Given the description of an element on the screen output the (x, y) to click on. 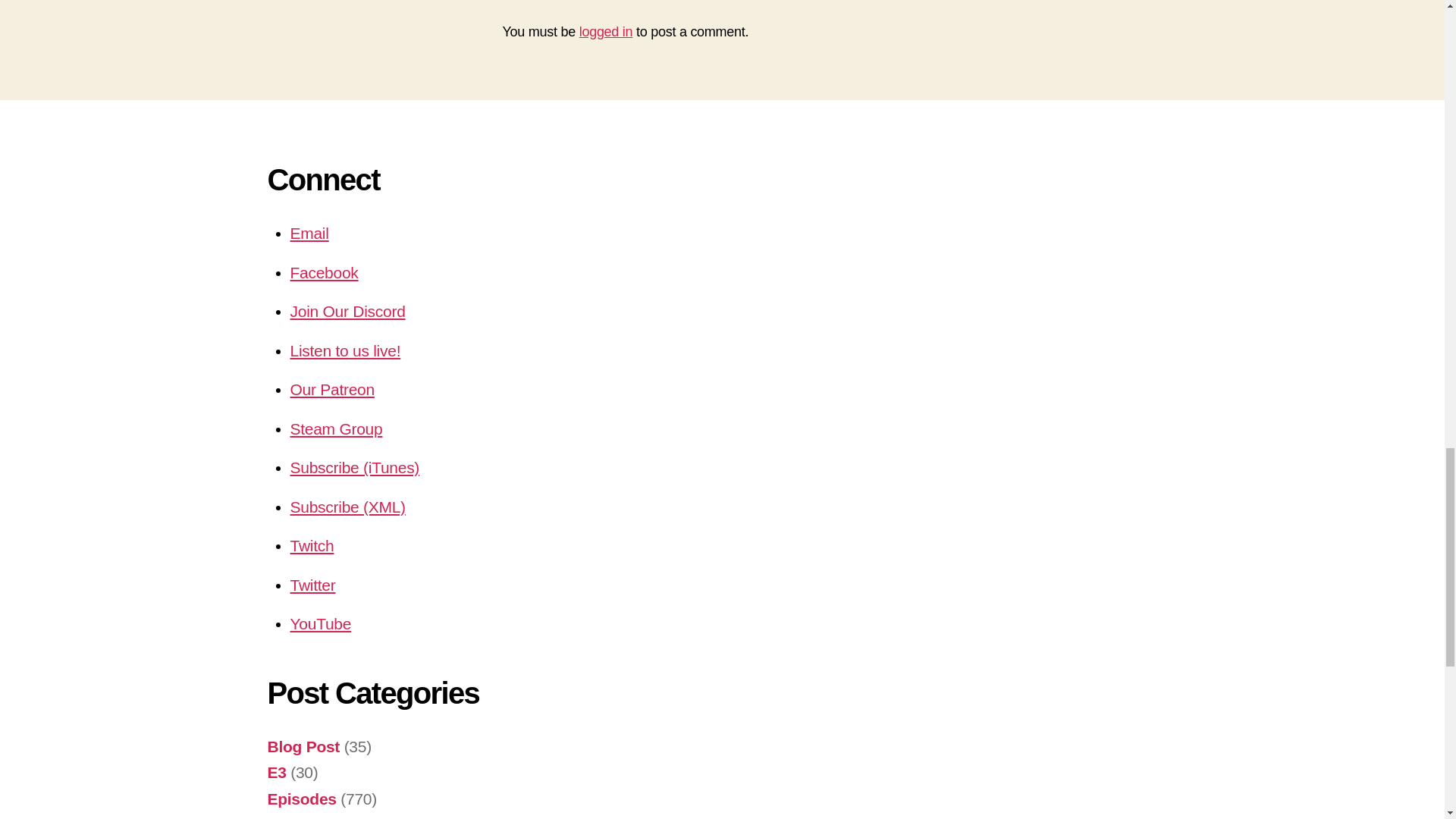
Email (309, 232)
Click Here To Support Us (331, 389)
Subscribe to the In-Game Chat podcast using iTunes. (354, 466)
Contact IGC via Twitter. (311, 584)
logged in (606, 31)
YouTube (319, 623)
Our Patreon (331, 389)
Subscribe to the In-Game Chat podcast. (346, 506)
Steam Group (335, 428)
Episodes (301, 798)
